Given the description of an element on the screen output the (x, y) to click on. 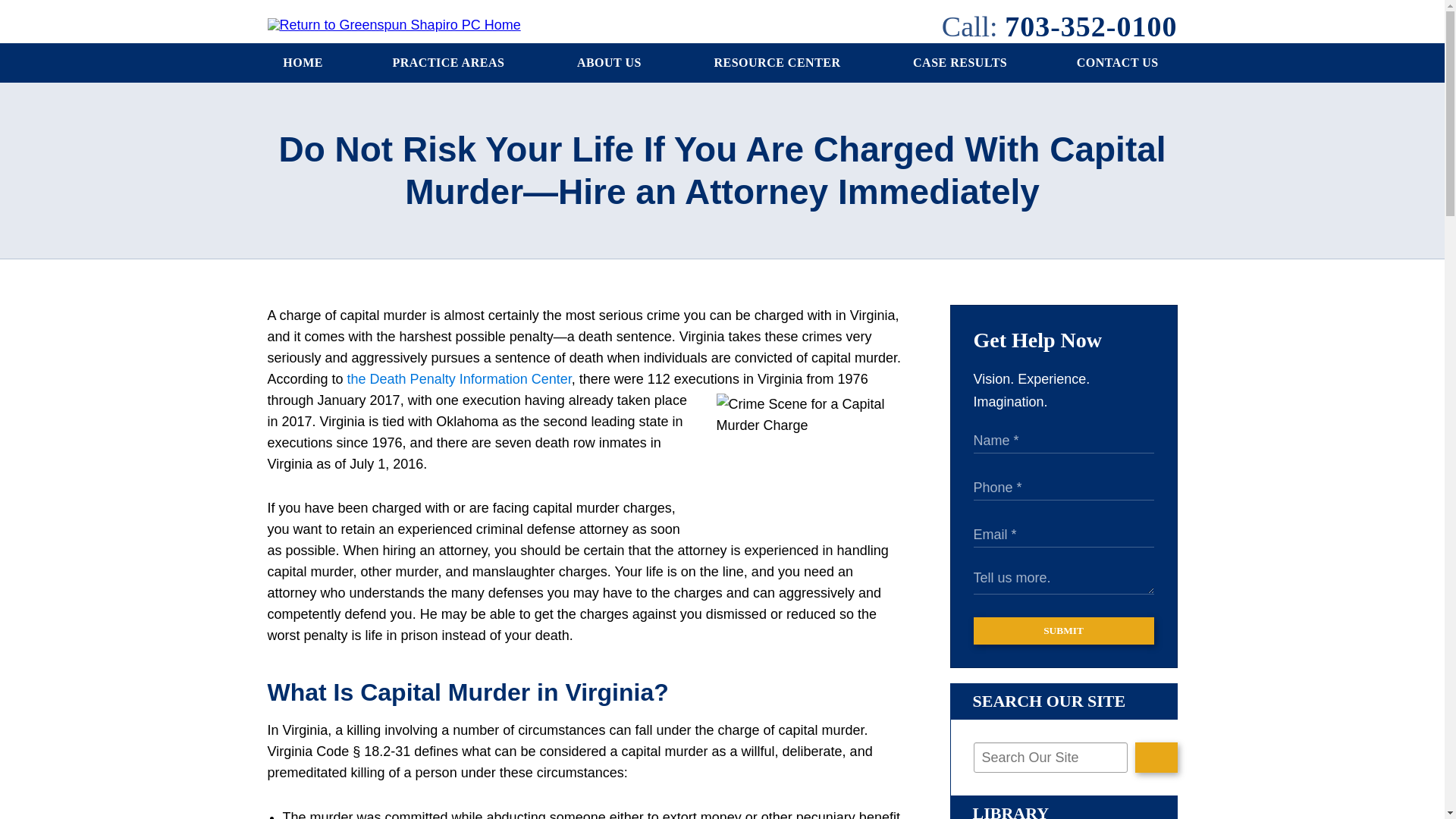
Search (1155, 757)
HOME (303, 62)
PRACTICE AREAS (449, 62)
